Given the description of an element on the screen output the (x, y) to click on. 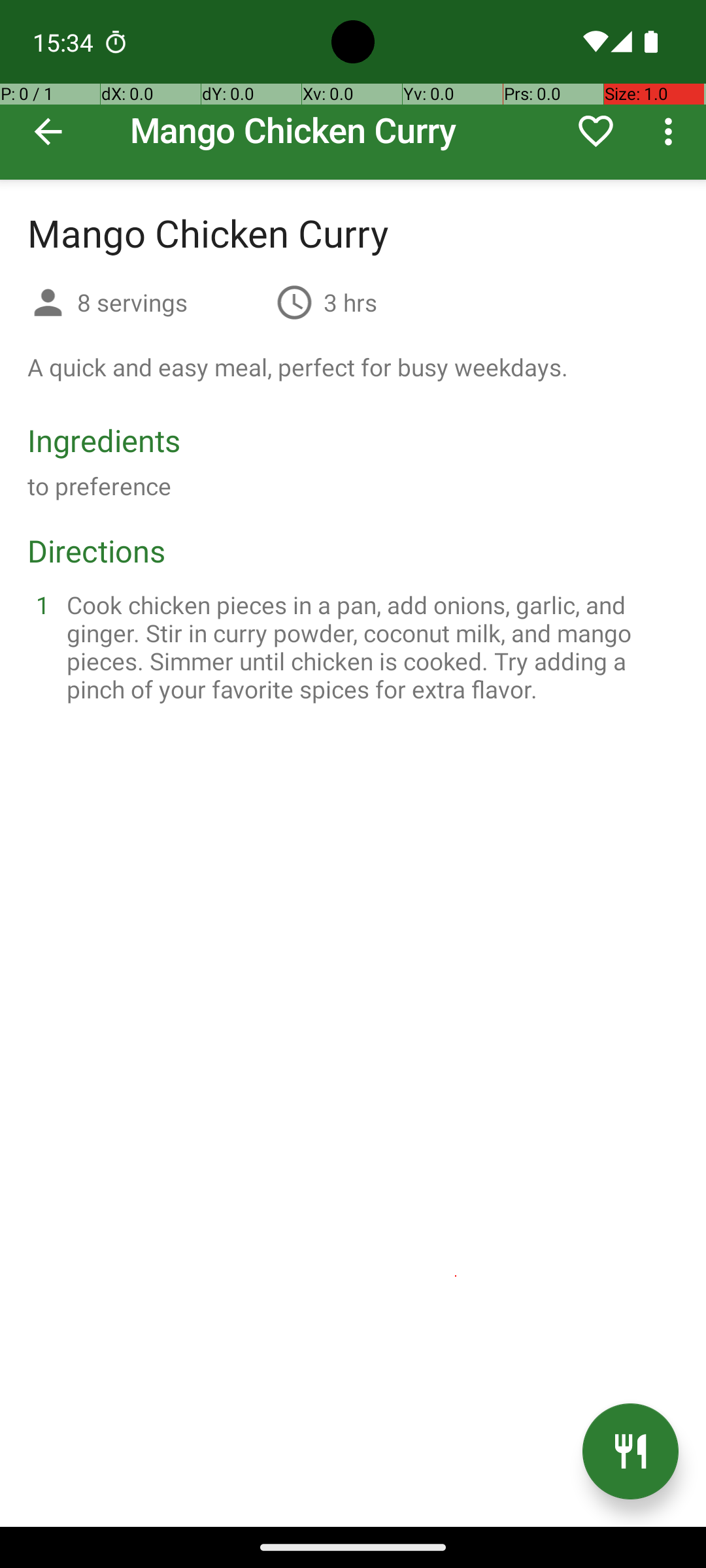
Cook chicken pieces in a pan, add onions, garlic, and ginger. Stir in curry powder, coconut milk, and mango pieces. Simmer until chicken is cooked. Try adding a pinch of your favorite spices for extra flavor. Element type: android.widget.TextView (368, 646)
